Given the description of an element on the screen output the (x, y) to click on. 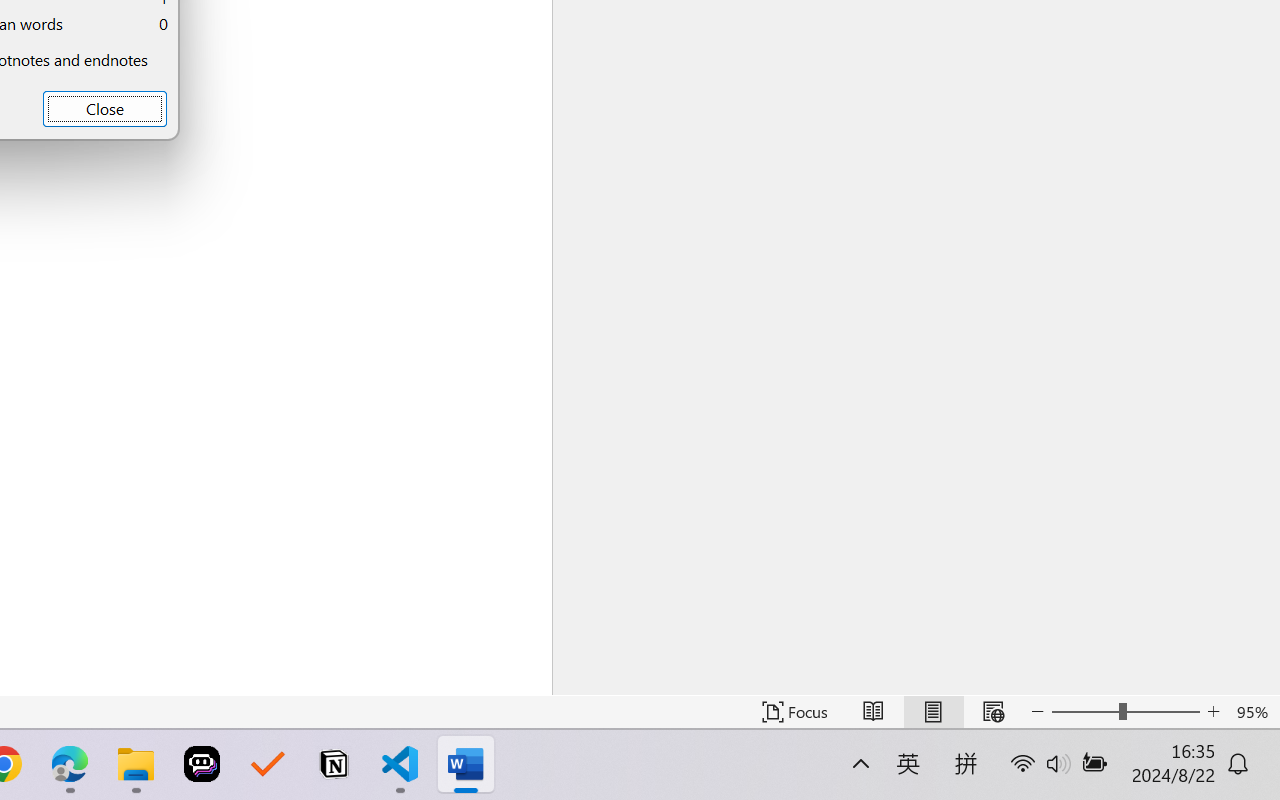
Zoom 95% (1253, 712)
Poe (201, 764)
